Given the description of an element on the screen output the (x, y) to click on. 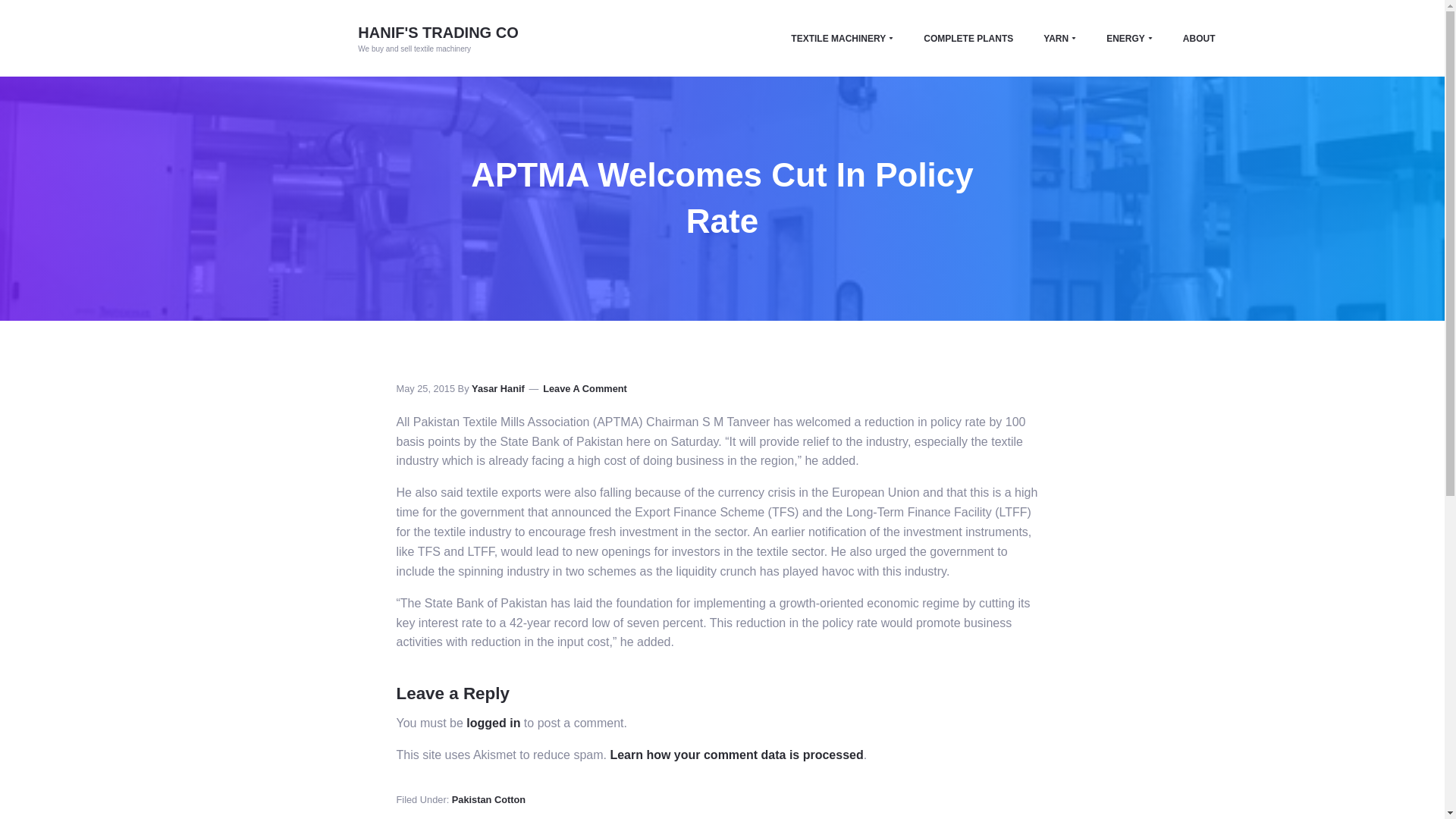
YARN (1058, 38)
HANIF'S TRADING CO (438, 32)
COMPLETE PLANTS (967, 38)
ENERGY (1128, 38)
TEXTILE MACHINERY (842, 38)
